Given the description of an element on the screen output the (x, y) to click on. 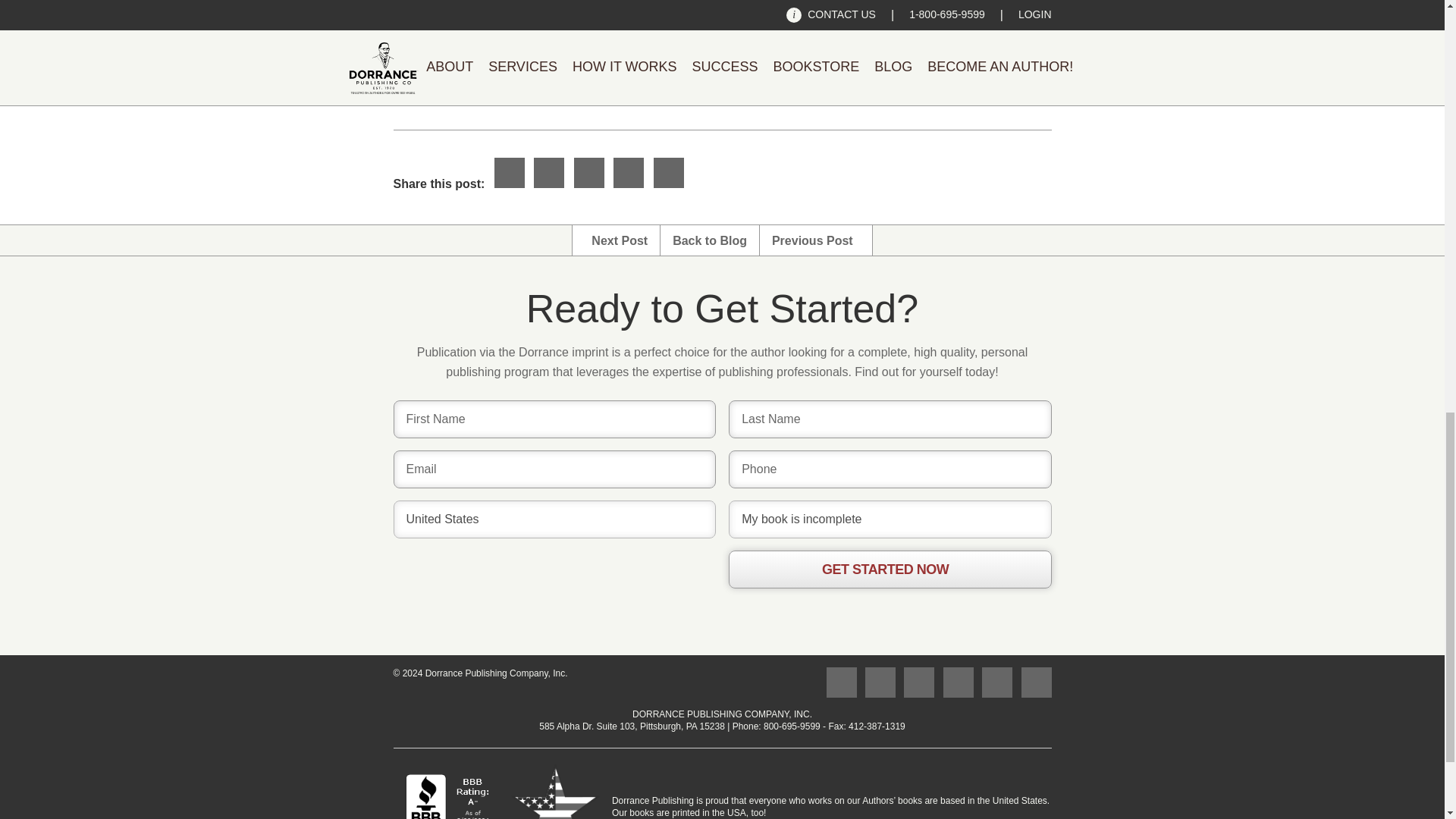
Facebook (842, 682)
Facebook (509, 173)
Twitter (879, 682)
LinkedIn (668, 173)
Pinterest (958, 682)
LinkedIn (996, 682)
Instagram (919, 682)
click here (942, 81)
Twitter (588, 173)
Pinterest (627, 173)
